Given the description of an element on the screen output the (x, y) to click on. 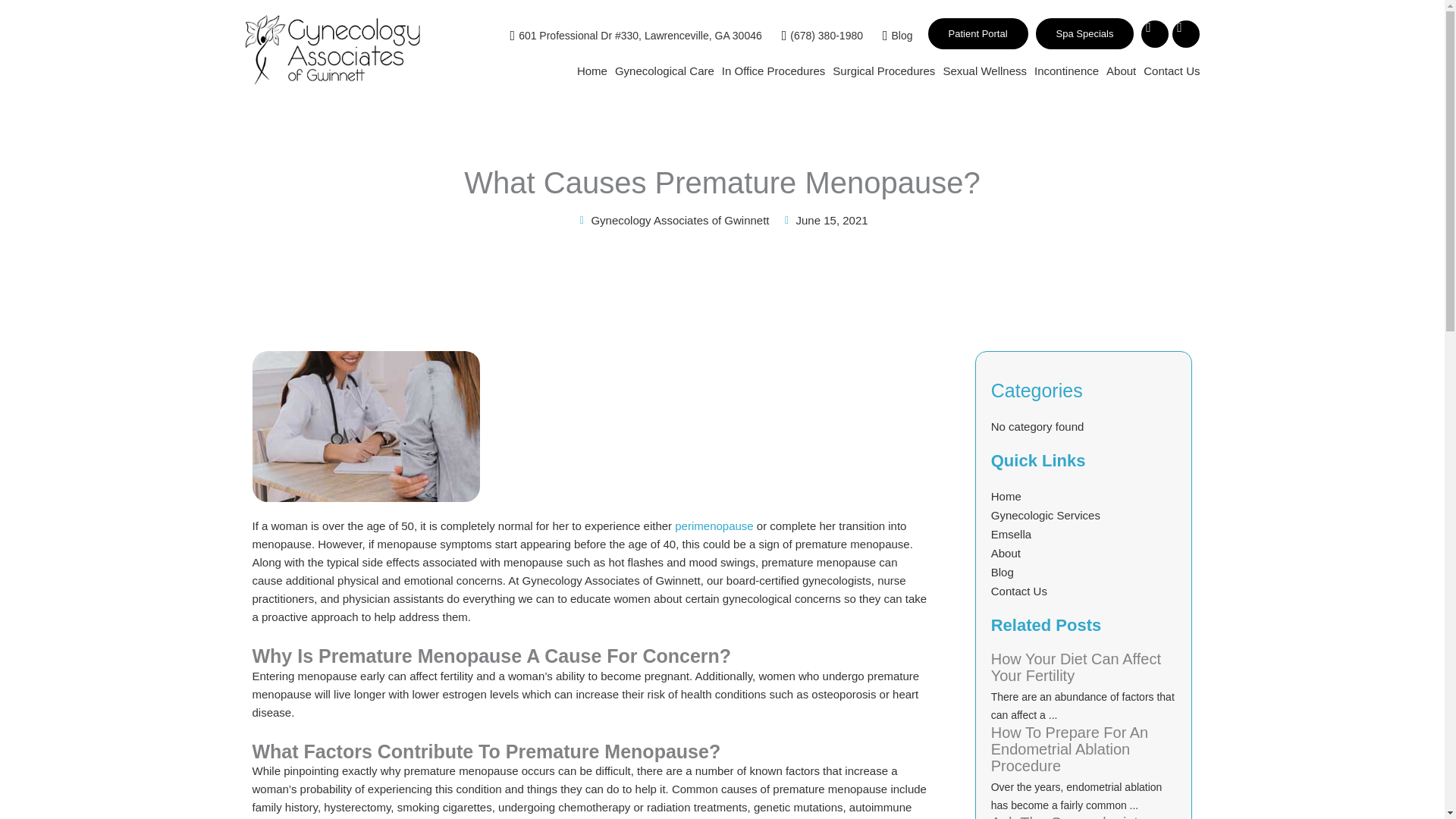
Patient Portal (977, 33)
Gynecological Care (664, 70)
Surgical Procedures (883, 70)
Incontinence (1066, 70)
Home (591, 70)
Instagram (1185, 33)
Sexual Wellness (984, 70)
Spa Specials (1084, 33)
In Office Procedures (773, 70)
Blog (891, 35)
About (1120, 70)
Facebook-f (1155, 33)
